Given the description of an element on the screen output the (x, y) to click on. 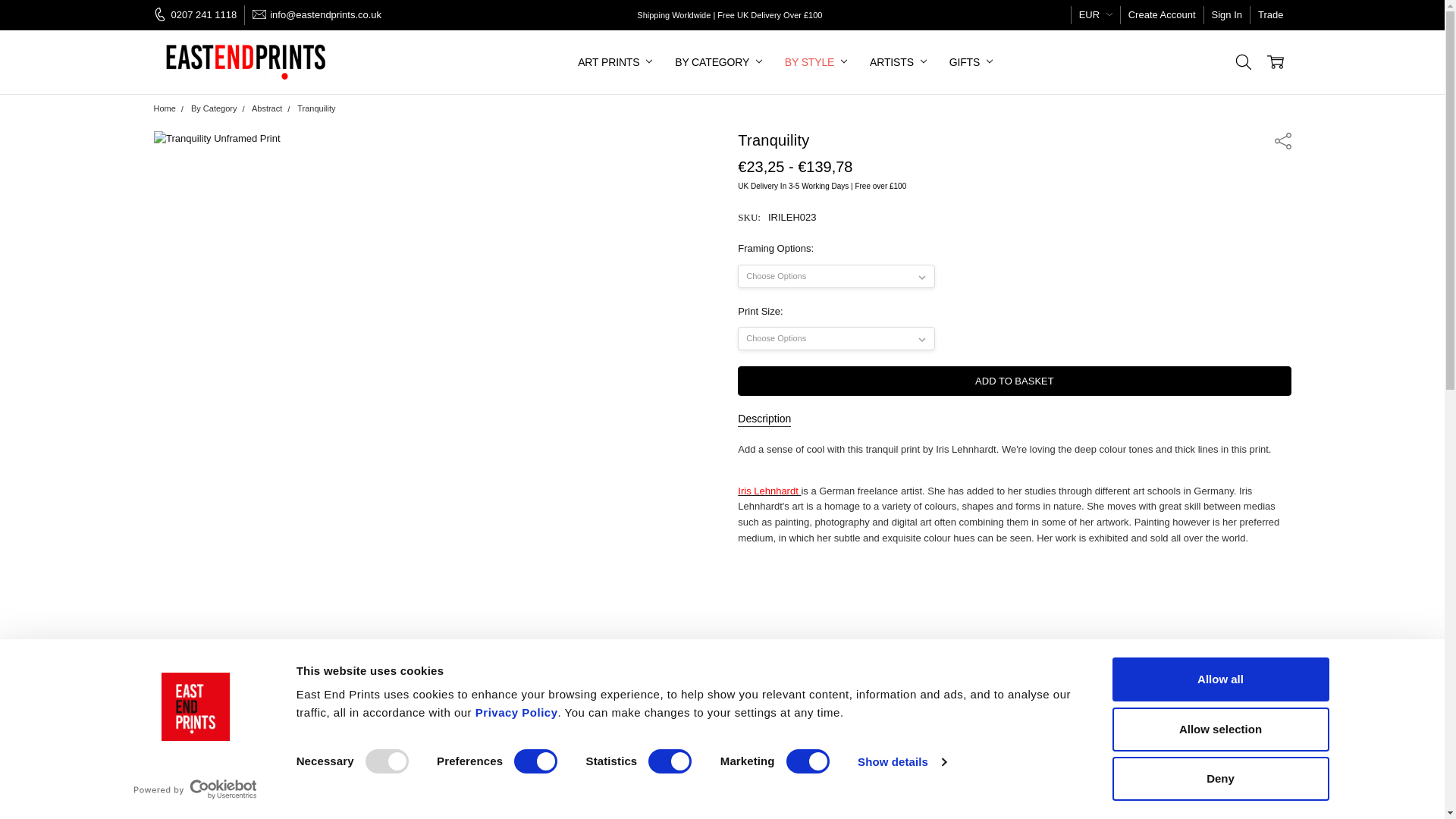
Add to Basket (1014, 380)
East End Prints Ltd (247, 62)
Show details (900, 762)
Privacy Policy (516, 712)
Privacy Policy (516, 712)
